Given the description of an element on the screen output the (x, y) to click on. 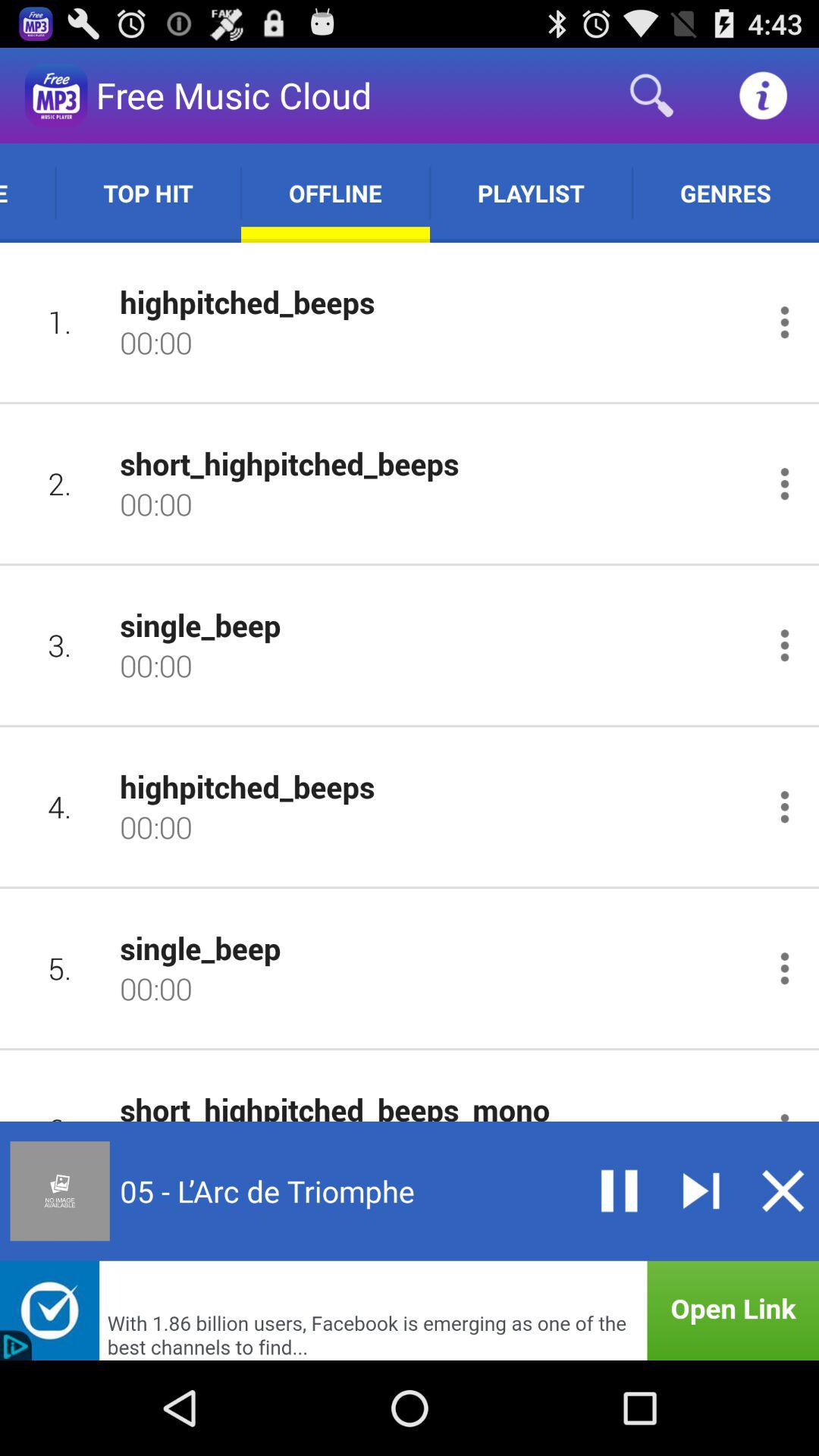
pause music (619, 1190)
